Given the description of an element on the screen output the (x, y) to click on. 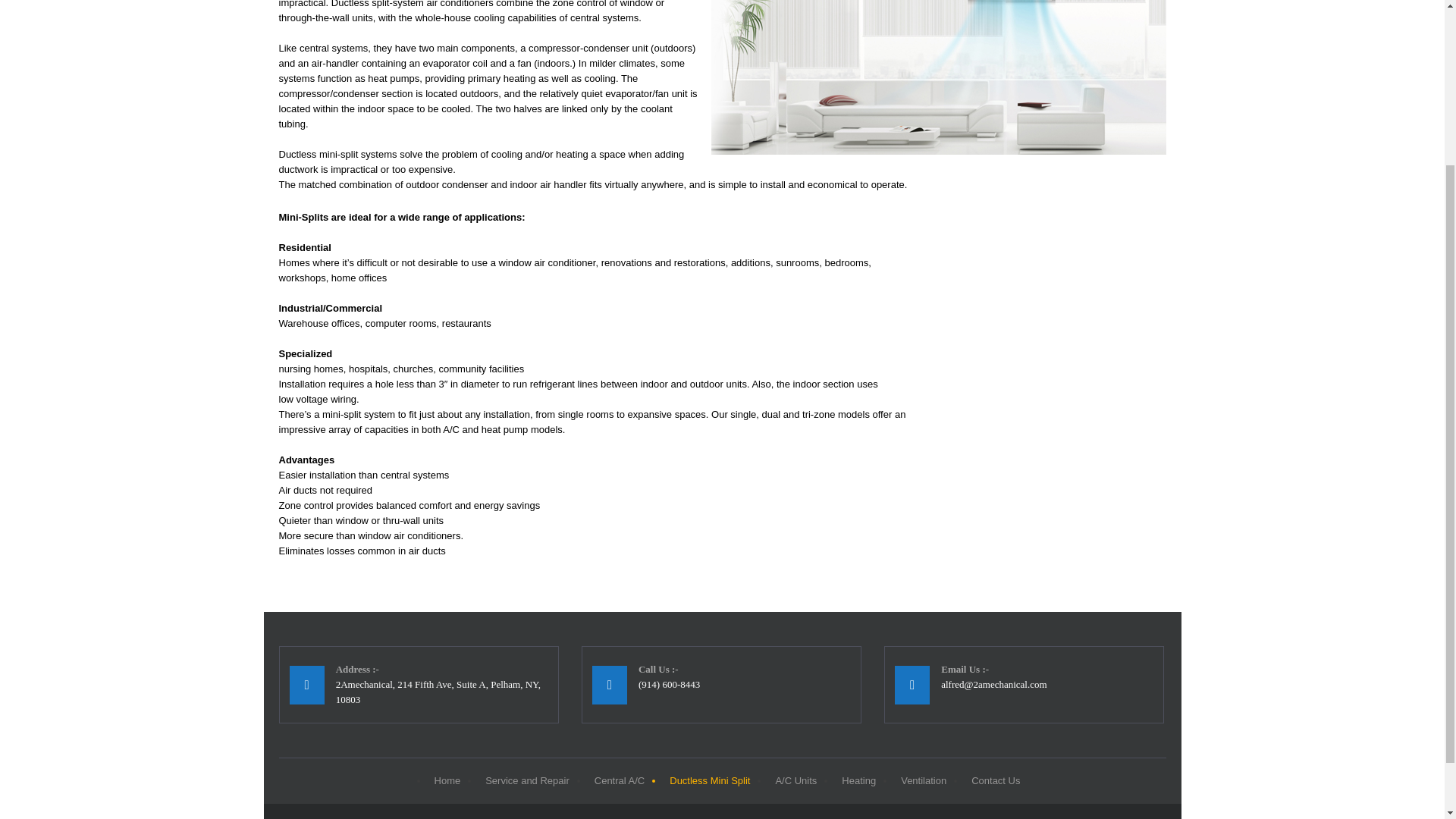
Home (445, 780)
Heating (857, 780)
Ventilation (921, 780)
Ductless Mini Split (707, 780)
Service and Repair (525, 780)
Contact Us (994, 780)
